Given the description of an element on the screen output the (x, y) to click on. 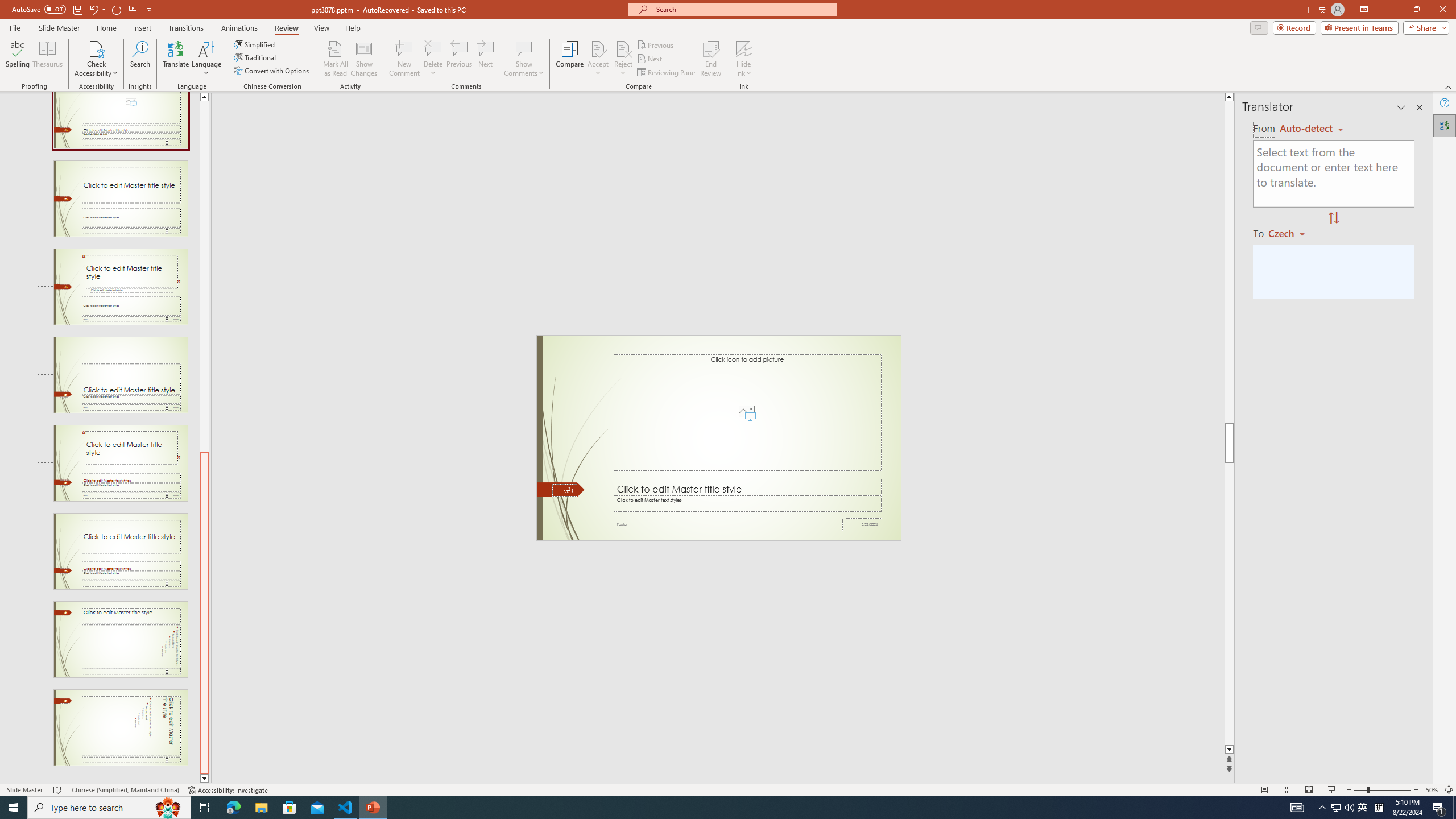
Title TextBox (746, 488)
Page up (204, 276)
Page down (1229, 604)
End Review (710, 58)
Accept Change (598, 48)
Simplified (254, 44)
